Given the description of an element on the screen output the (x, y) to click on. 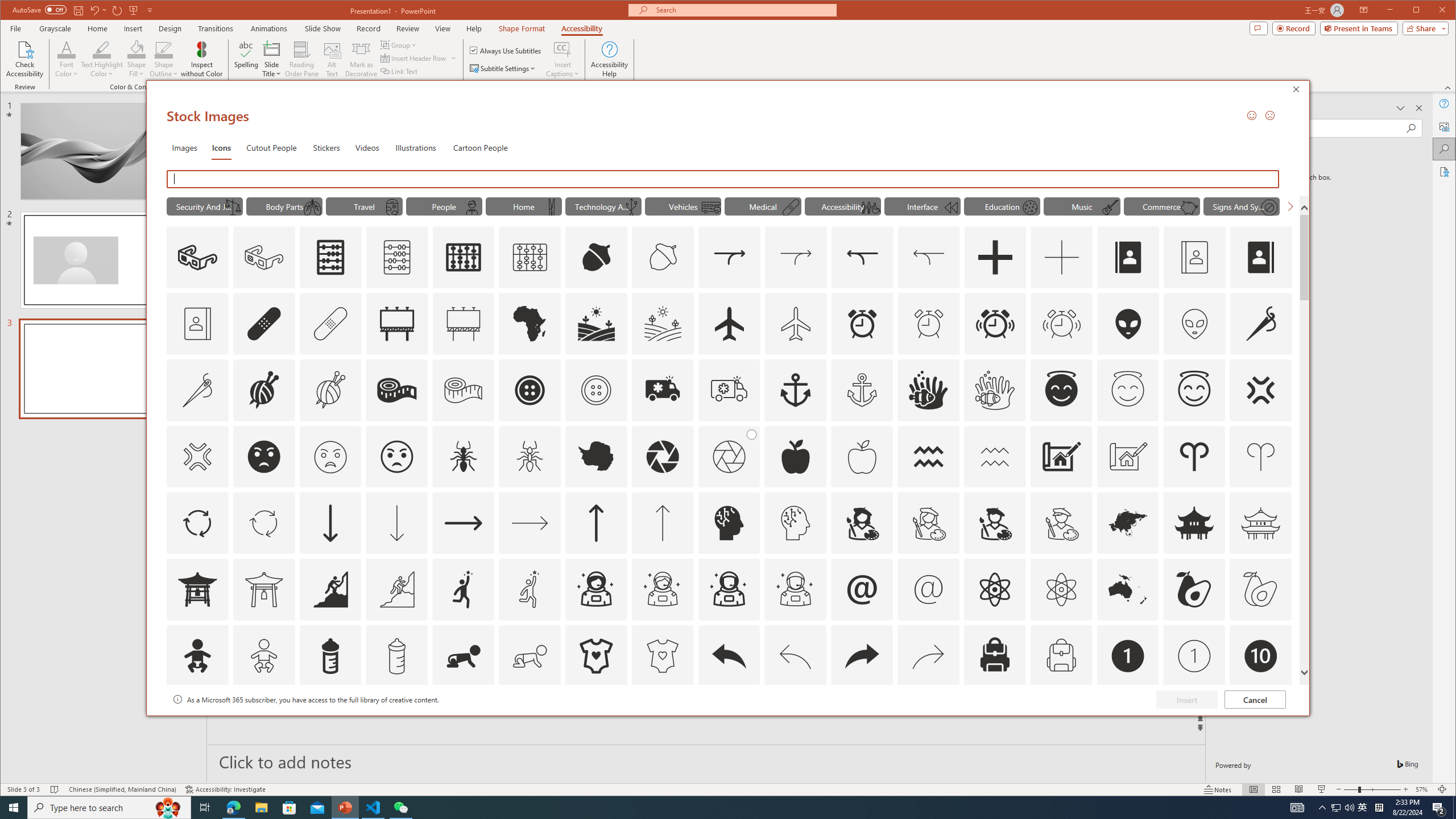
PowerPoint - 1 running window (345, 807)
AutomationID: Icons_AlarmRinging (995, 323)
Notification Chevron (1322, 807)
AutomationID: Icons_AddressBook_RTL (1260, 256)
AutomationID: Icons_AngelFace (1061, 389)
AutomationID: Icons_Asia (1128, 522)
AutomationID: Icons_AlterationsTailoring2 (397, 389)
AutomationID: Icons_Abacus1 (462, 256)
